Given the description of an element on the screen output the (x, y) to click on. 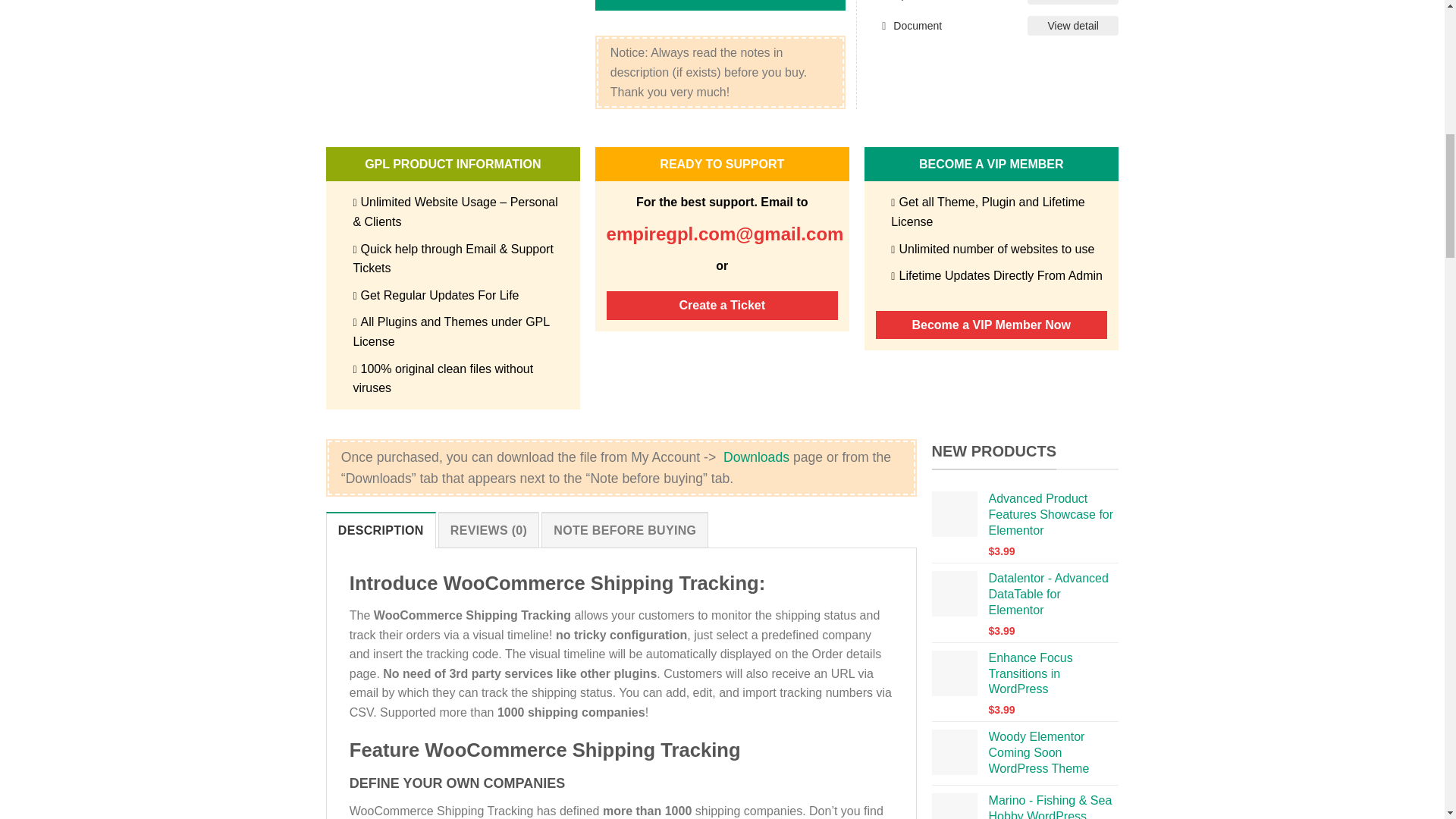
Become a VIP Member Now (991, 325)
Create a Ticket (722, 305)
View detail (1072, 25)
DESCRIPTION (380, 529)
Downloads (756, 457)
